Given the description of an element on the screen output the (x, y) to click on. 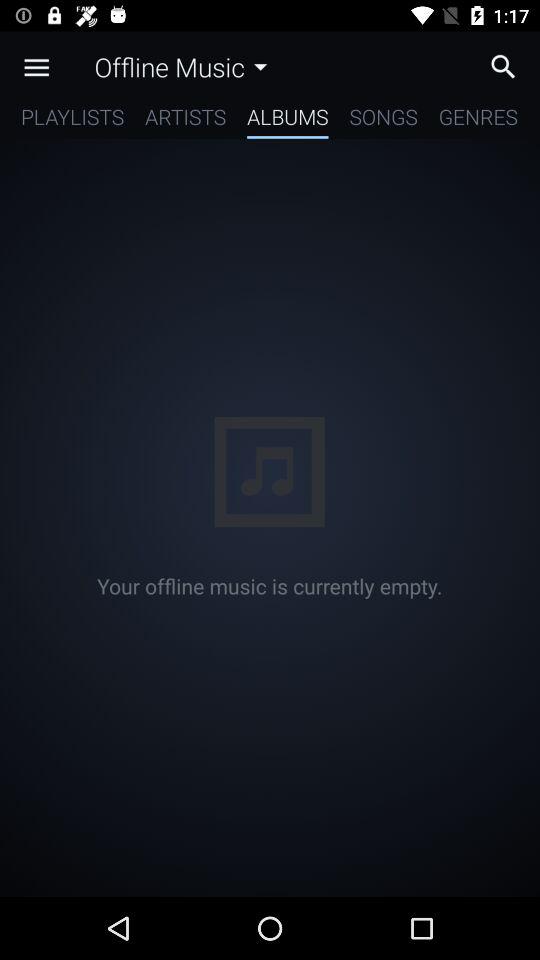
scroll to songs item (383, 120)
